Given the description of an element on the screen output the (x, y) to click on. 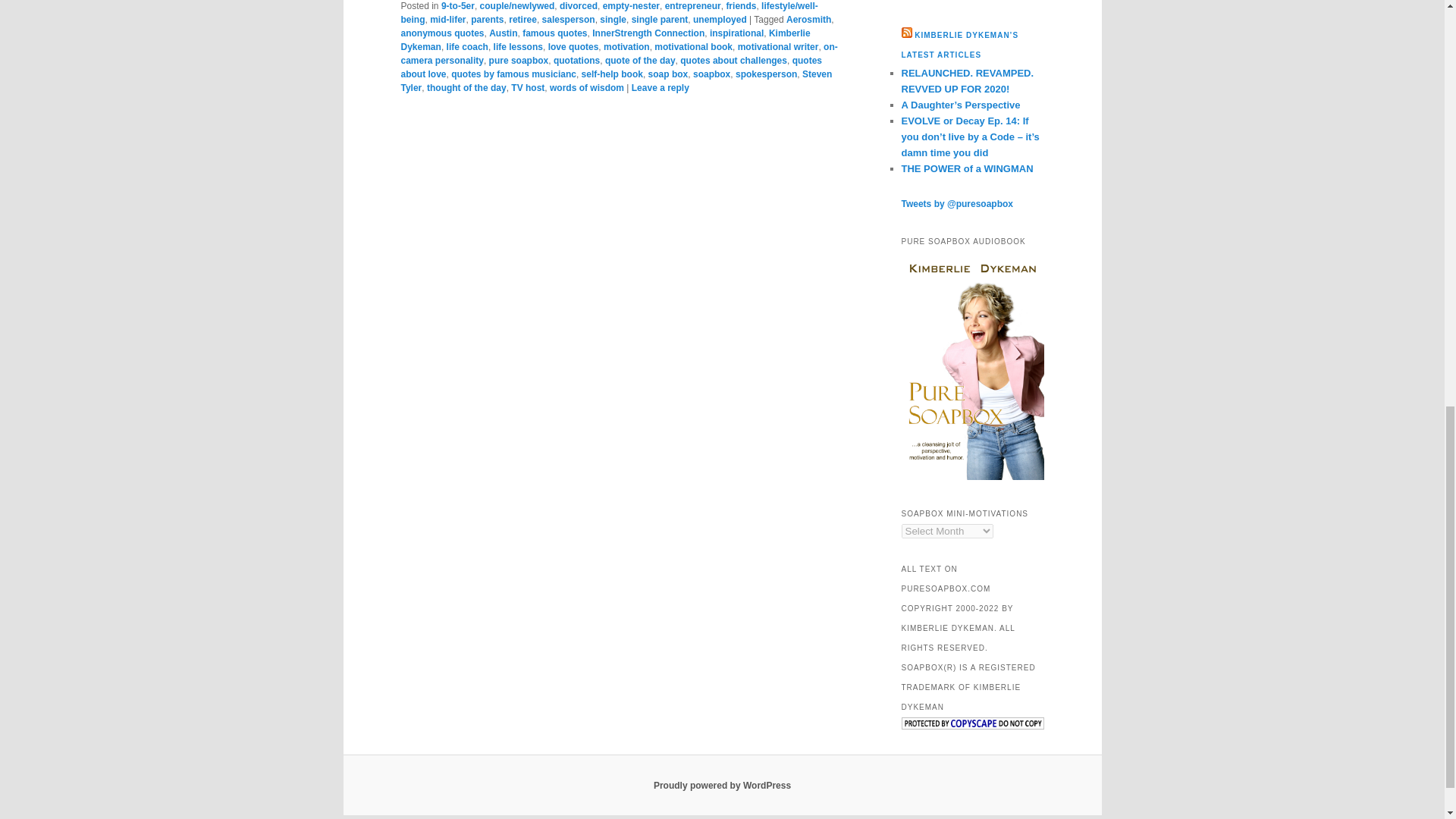
retiree (522, 19)
single (612, 19)
InnerStrength Connection (648, 32)
salesperson (568, 19)
Kimberlie Dykeman (604, 39)
inspirational (736, 32)
entrepreneur (692, 5)
single parent (659, 19)
empty-nester (630, 5)
life lessons (518, 46)
love quotes (573, 46)
life coach (466, 46)
Semantic Personal Publishing Platform (721, 785)
famous quotes (554, 32)
